Given the description of an element on the screen output the (x, y) to click on. 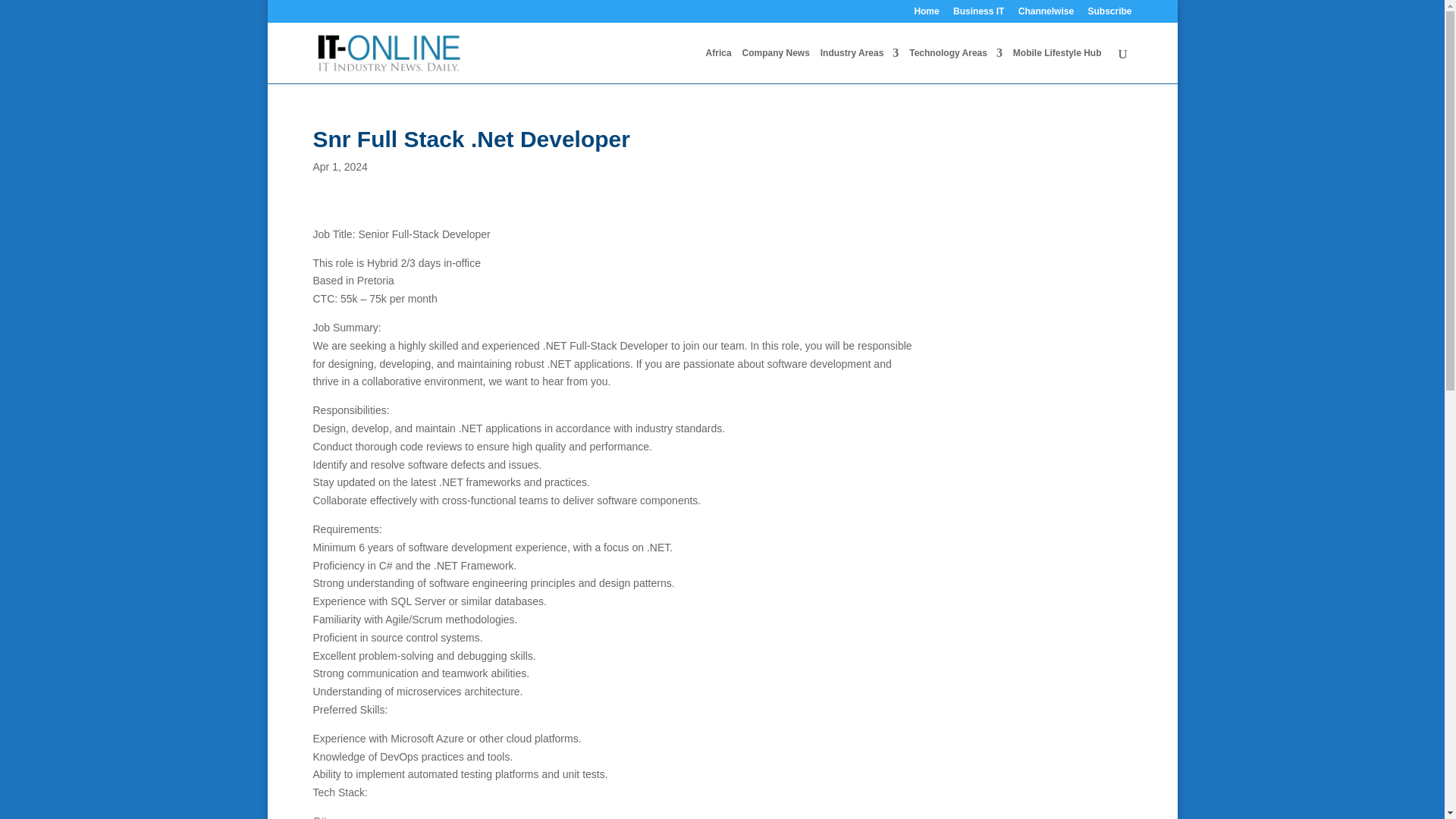
Home (926, 14)
Business IT (978, 14)
Company News (775, 65)
Technology Areas (955, 65)
Subscribe (1109, 14)
Industry Areas (860, 65)
Channelwise (1045, 14)
